Given the description of an element on the screen output the (x, y) to click on. 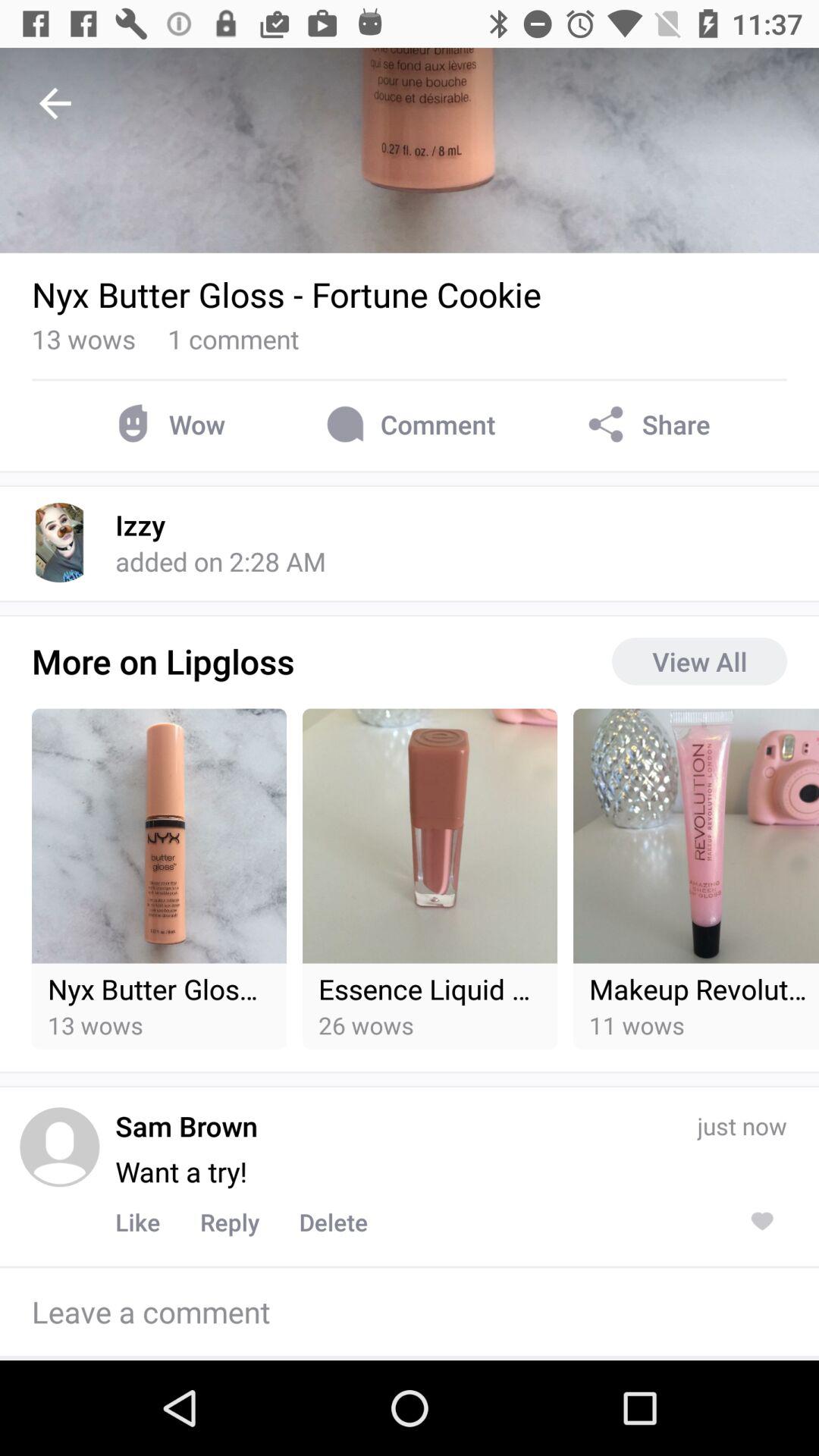
jump until 1 comment icon (233, 338)
